Given the description of an element on the screen output the (x, y) to click on. 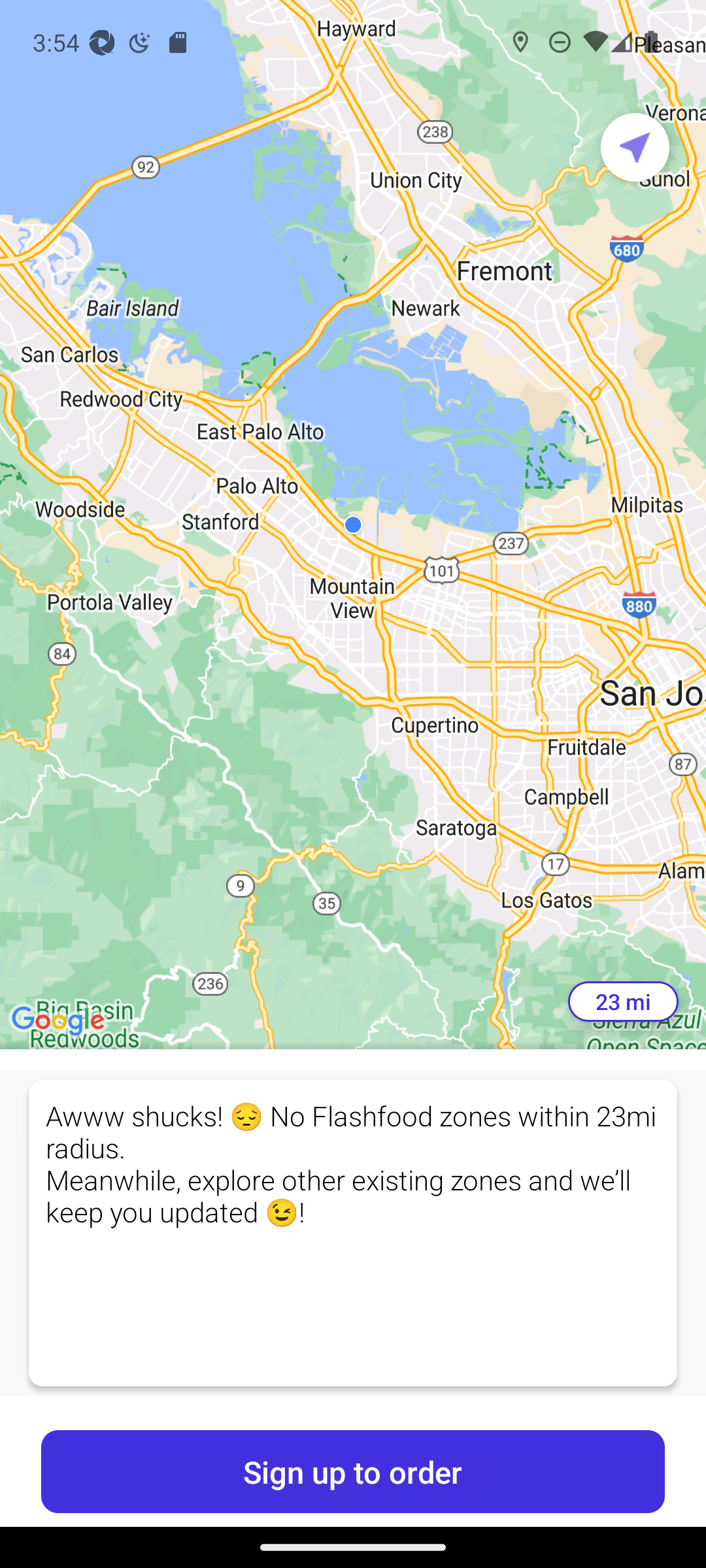
My location (634, 146)
23 mi (623, 1001)
Sign up to order (352, 1471)
